Given the description of an element on the screen output the (x, y) to click on. 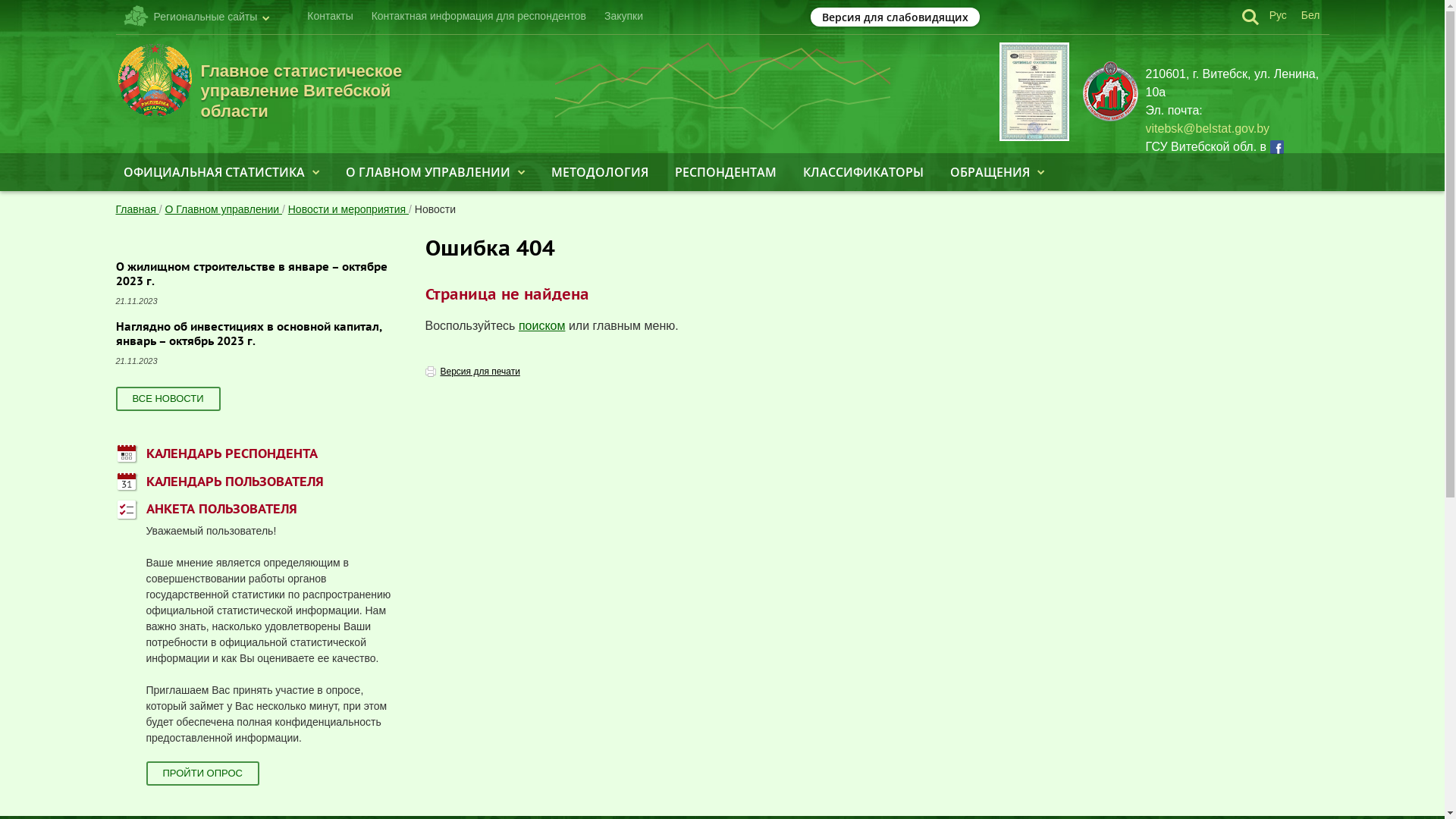
vitebsk@belstat.gov.by Element type: text (1207, 128)
